Given the description of an element on the screen output the (x, y) to click on. 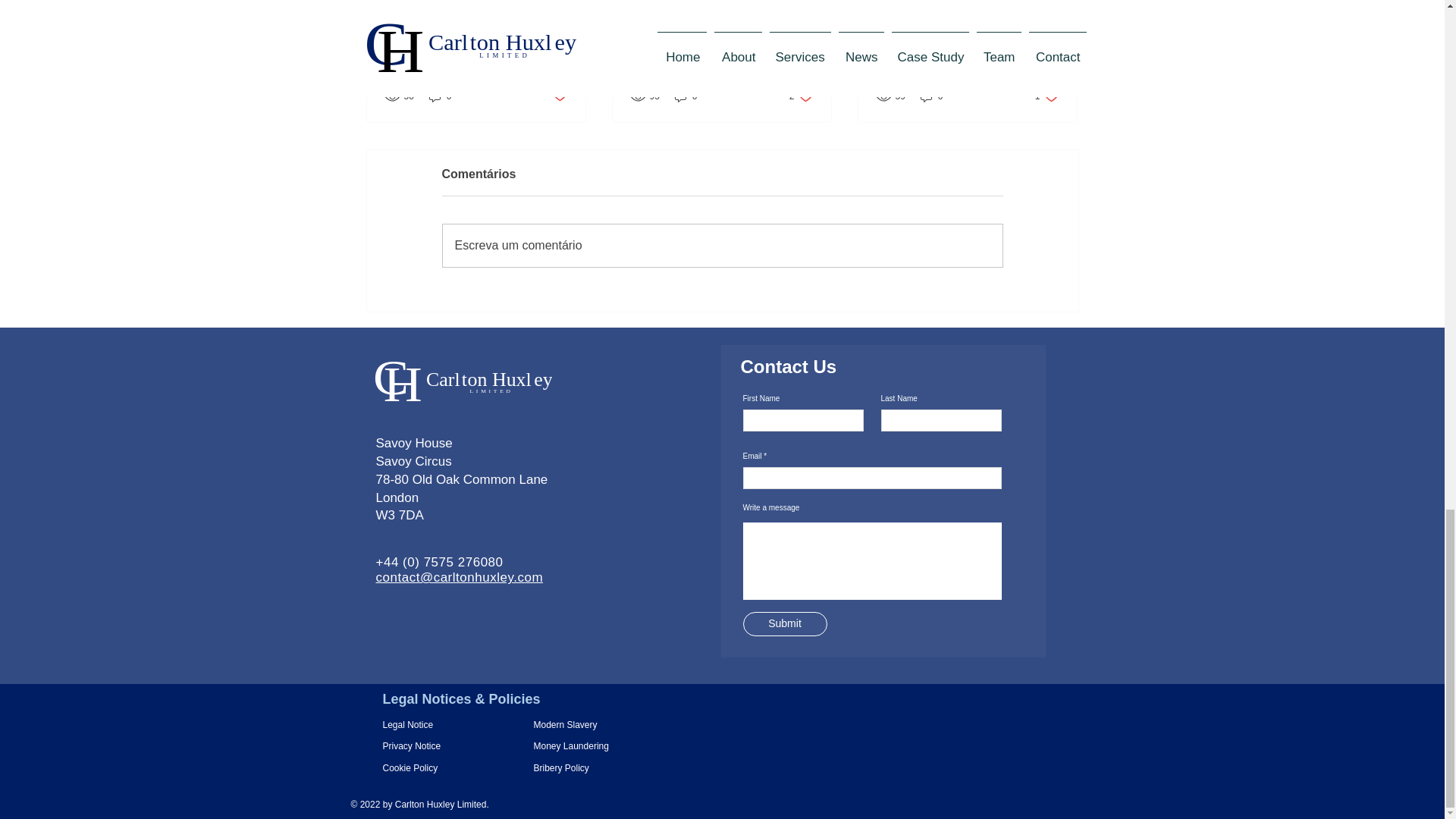
0 (931, 96)
Investigation: Dolphin GPG (721, 35)
Privacy Notice (1046, 96)
Post not marked as liked (419, 745)
0 (800, 96)
Modern Slavery (558, 96)
Cookie Policy (685, 96)
Legal Notice (571, 724)
0 (419, 767)
Submit (419, 724)
